Given the description of an element on the screen output the (x, y) to click on. 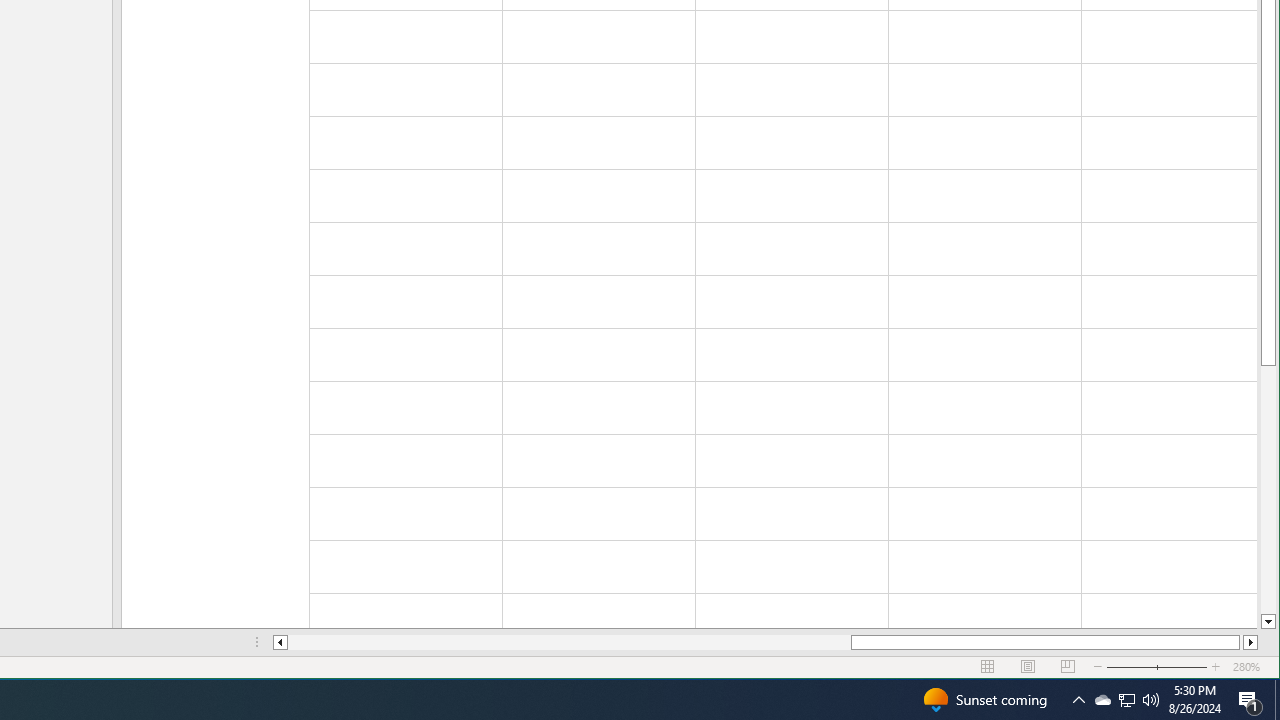
Show desktop (1277, 699)
Sunset coming (984, 699)
